Given the description of an element on the screen output the (x, y) to click on. 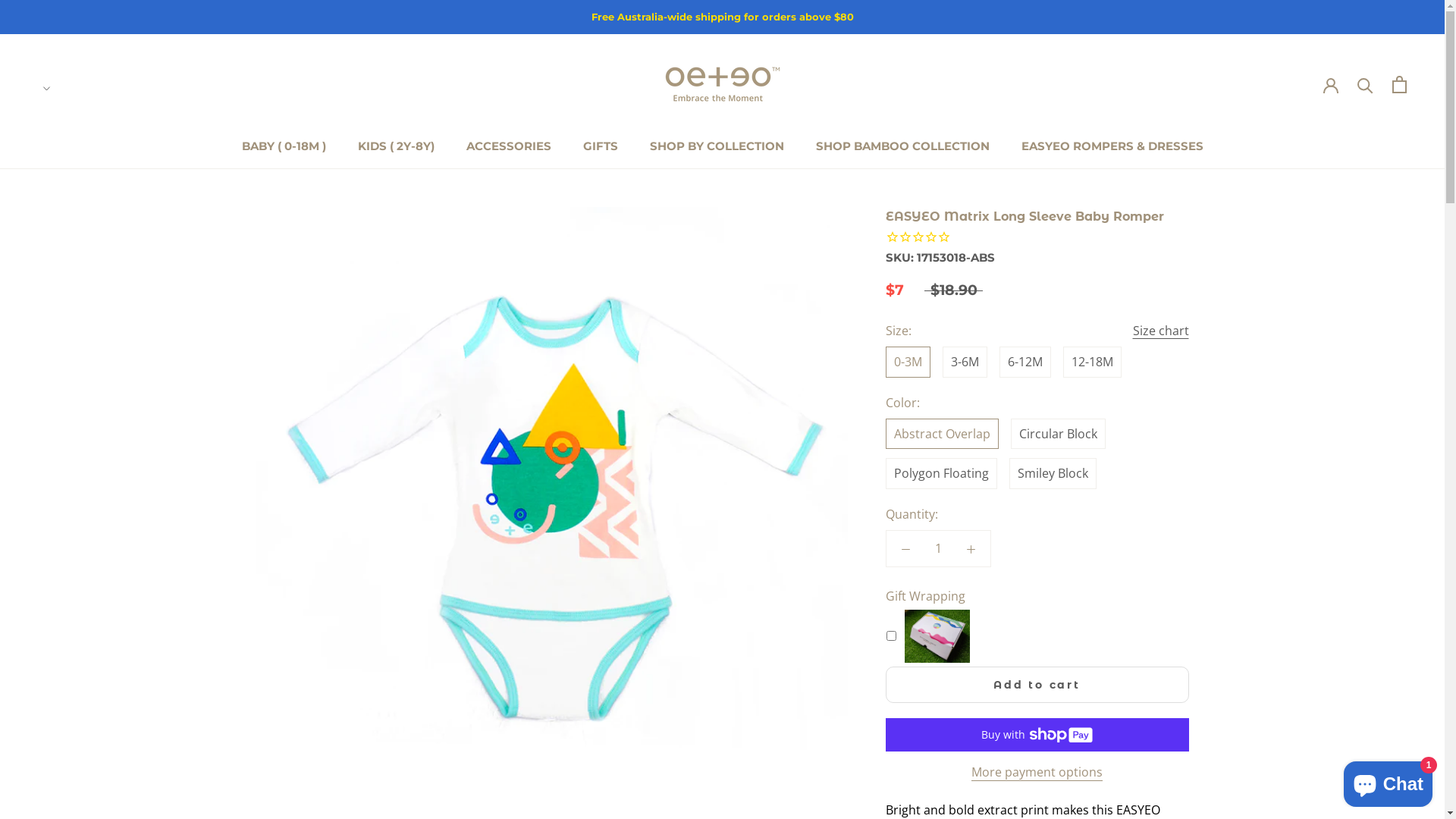
KIDS ( 2Y-8Y) Element type: text (395, 145)
EASYEO ROMPERS & DRESSES
EASYEO ROMPERS & DRESSES Element type: text (1111, 145)
Shopify online store chat Element type: hover (1388, 780)
Add to cart Element type: text (1037, 684)
SHOP BY COLLECTION Element type: text (716, 145)
AUD Element type: text (93, 119)
BABY ( 0-18M ) Element type: text (283, 145)
Size chart Element type: text (1160, 330)
More payment options Element type: text (1036, 771)
SHOP BAMBOO COLLECTION Element type: text (902, 145)
0 Element type: text (1399, 84)
USD Element type: text (93, 135)
GIFTS Element type: text (599, 145)
ACCESSORIES Element type: text (507, 145)
